Given the description of an element on the screen output the (x, y) to click on. 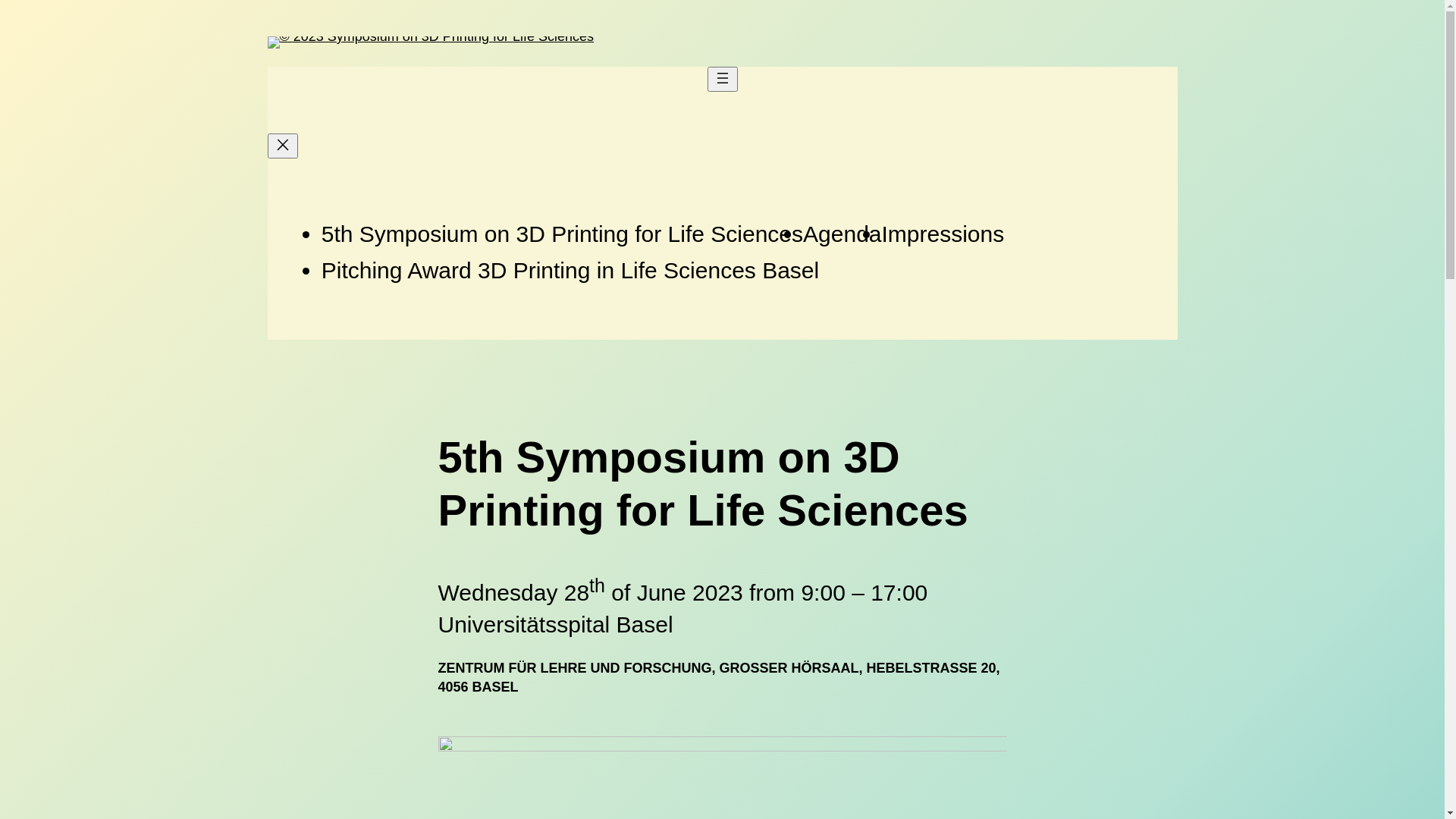
Impressions Element type: text (942, 233)
5th Symposium on 3D Printing for Life Sciences Element type: text (562, 233)
Pitching Award 3D Printing in Life Sciences Basel Element type: text (570, 269)
Agenda Element type: text (842, 233)
